Given the description of an element on the screen output the (x, y) to click on. 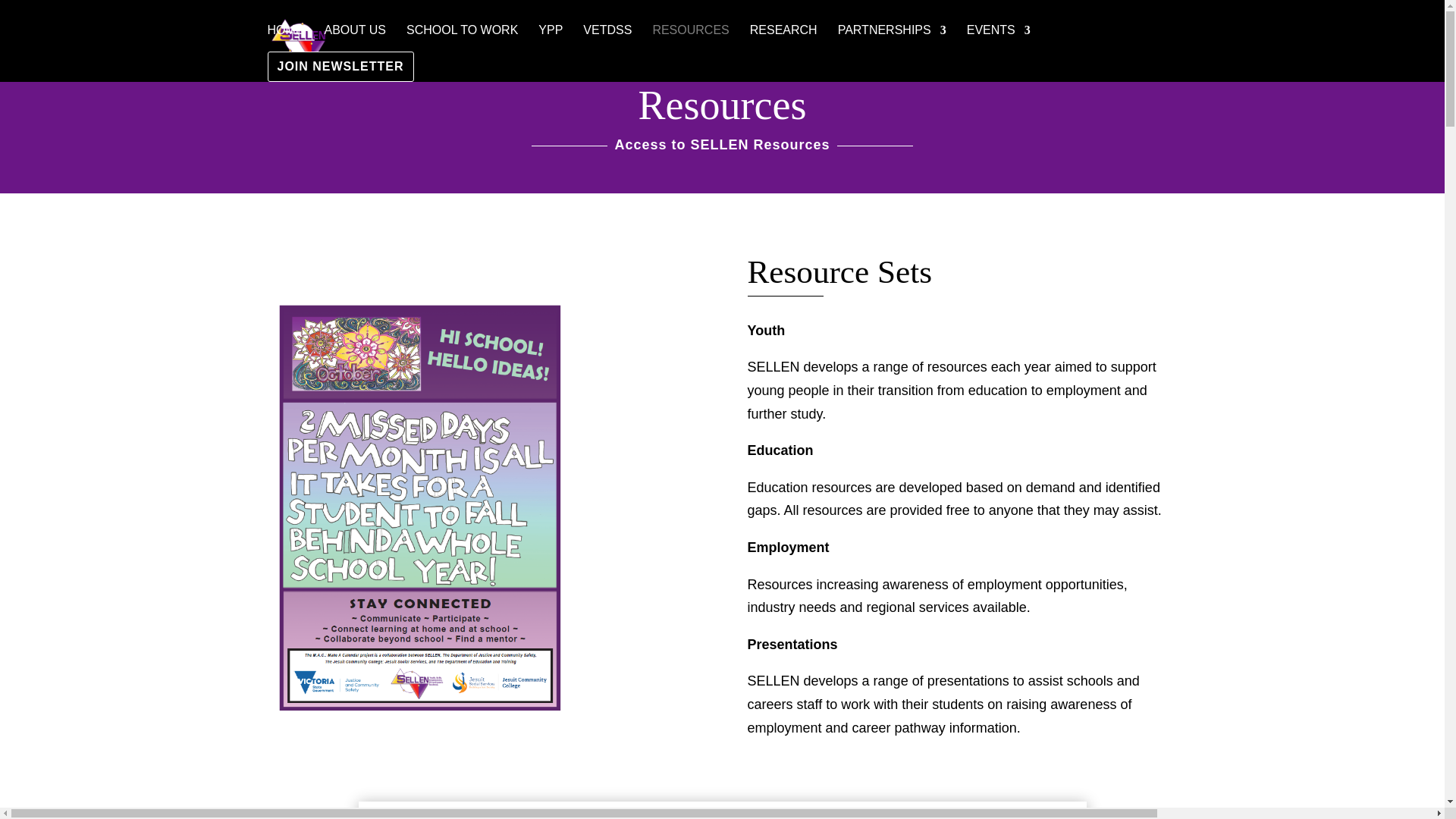
pathways to employment (722, 810)
JOIN NEWSLETTER (339, 66)
PARTNERSHIPS (892, 42)
October (418, 507)
HOME (284, 42)
ABOUT US (355, 42)
RESOURCES (690, 42)
VETDSS (607, 42)
YPP (550, 42)
SCHOOL TO WORK (462, 42)
EVENTS (998, 42)
RESEARCH (782, 42)
